Given the description of an element on the screen output the (x, y) to click on. 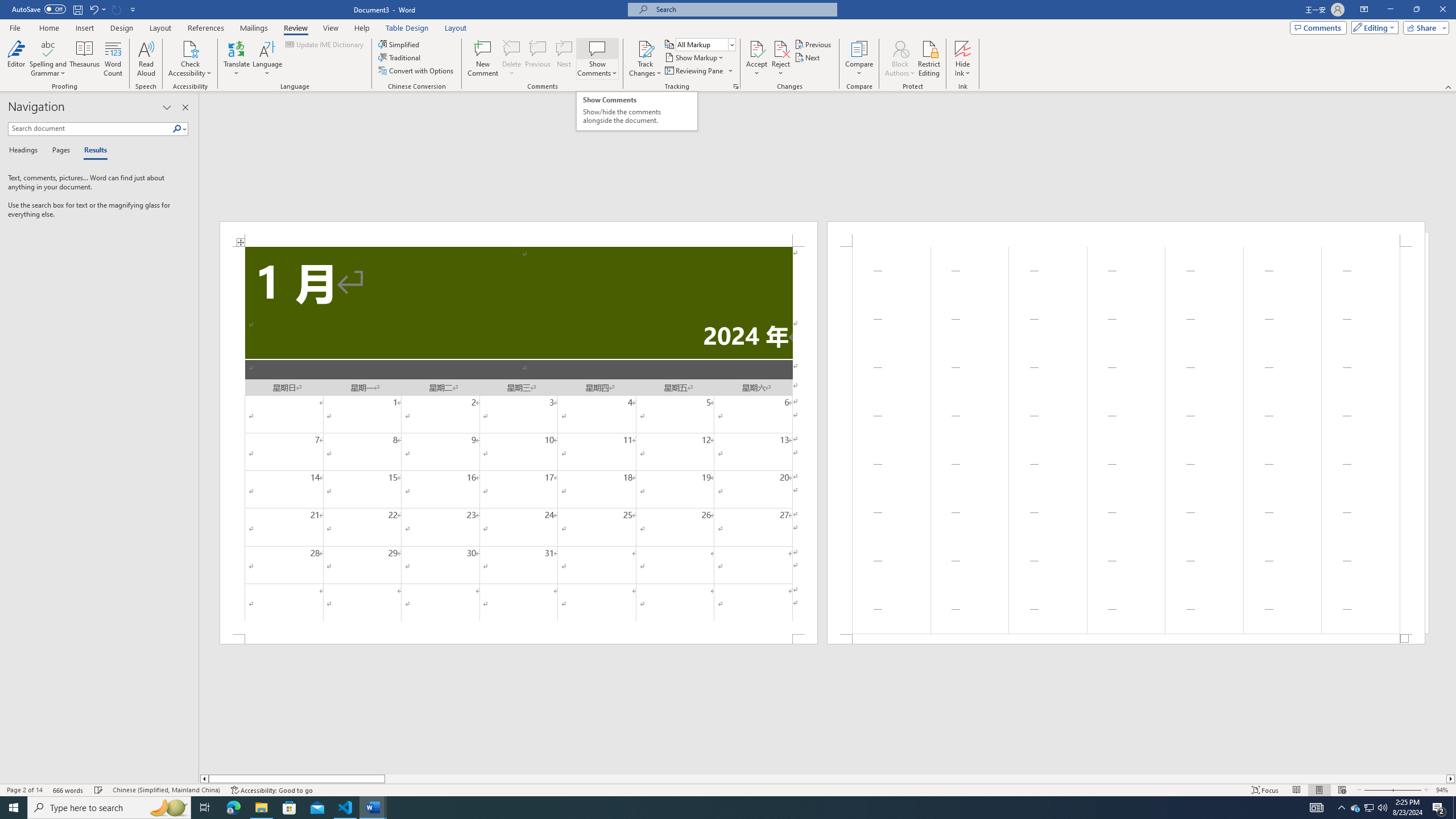
Page 1 content (518, 439)
Traditional (400, 56)
Accept (756, 58)
Page 2 content (1126, 439)
Track Changes (644, 48)
Check Accessibility (189, 48)
Spelling and Grammar (48, 48)
